Given the description of an element on the screen output the (x, y) to click on. 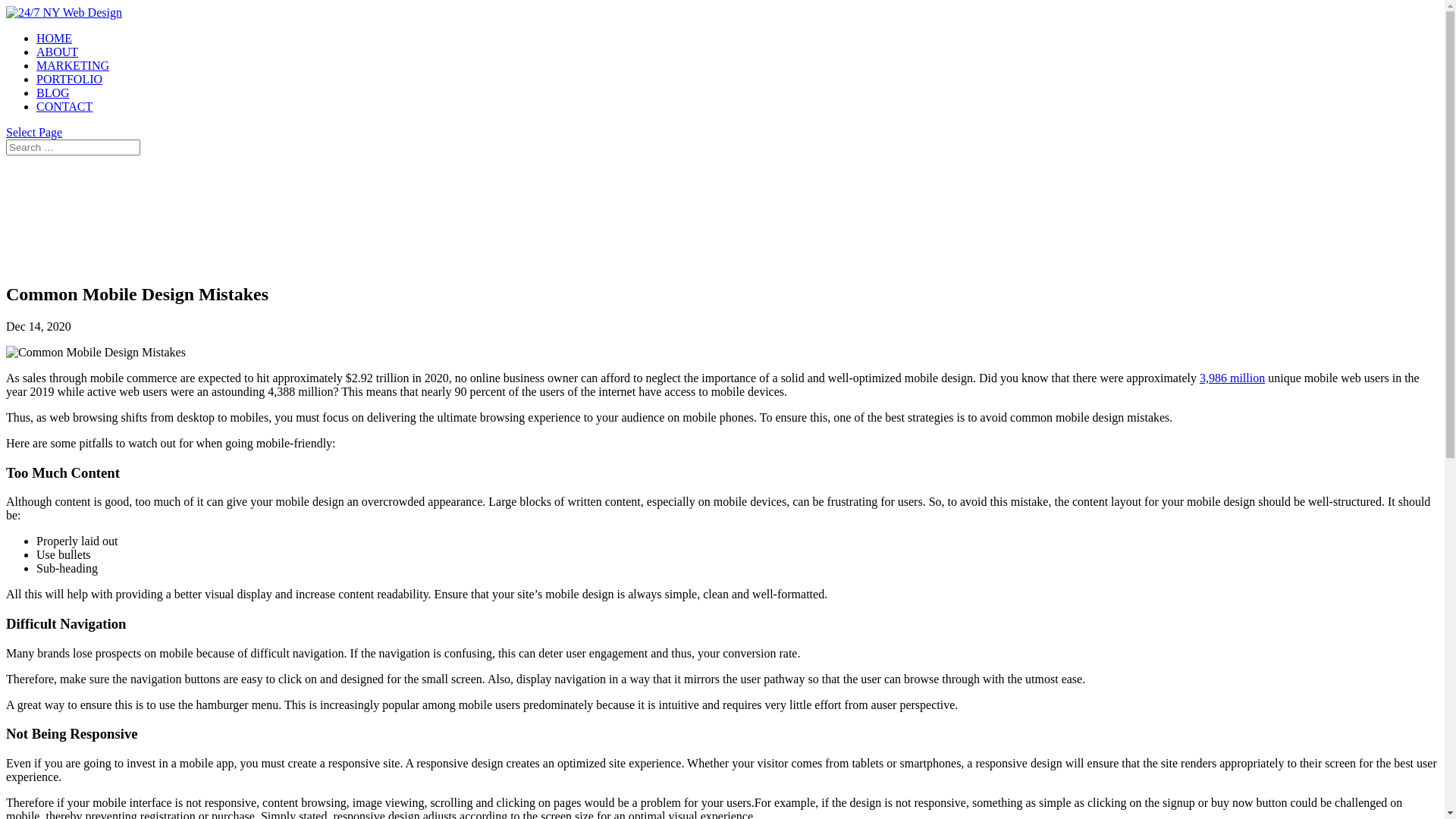
BLOG Element type: text (52, 92)
ABOUT Element type: text (57, 51)
3,986 million Element type: text (1231, 377)
Select Page Element type: text (34, 131)
MARKETING Element type: text (72, 65)
CONTACT Element type: text (64, 106)
PORTFOLIO Element type: text (69, 78)
HOME Element type: text (54, 37)
Search for: Element type: hover (73, 147)
